Given the description of an element on the screen output the (x, y) to click on. 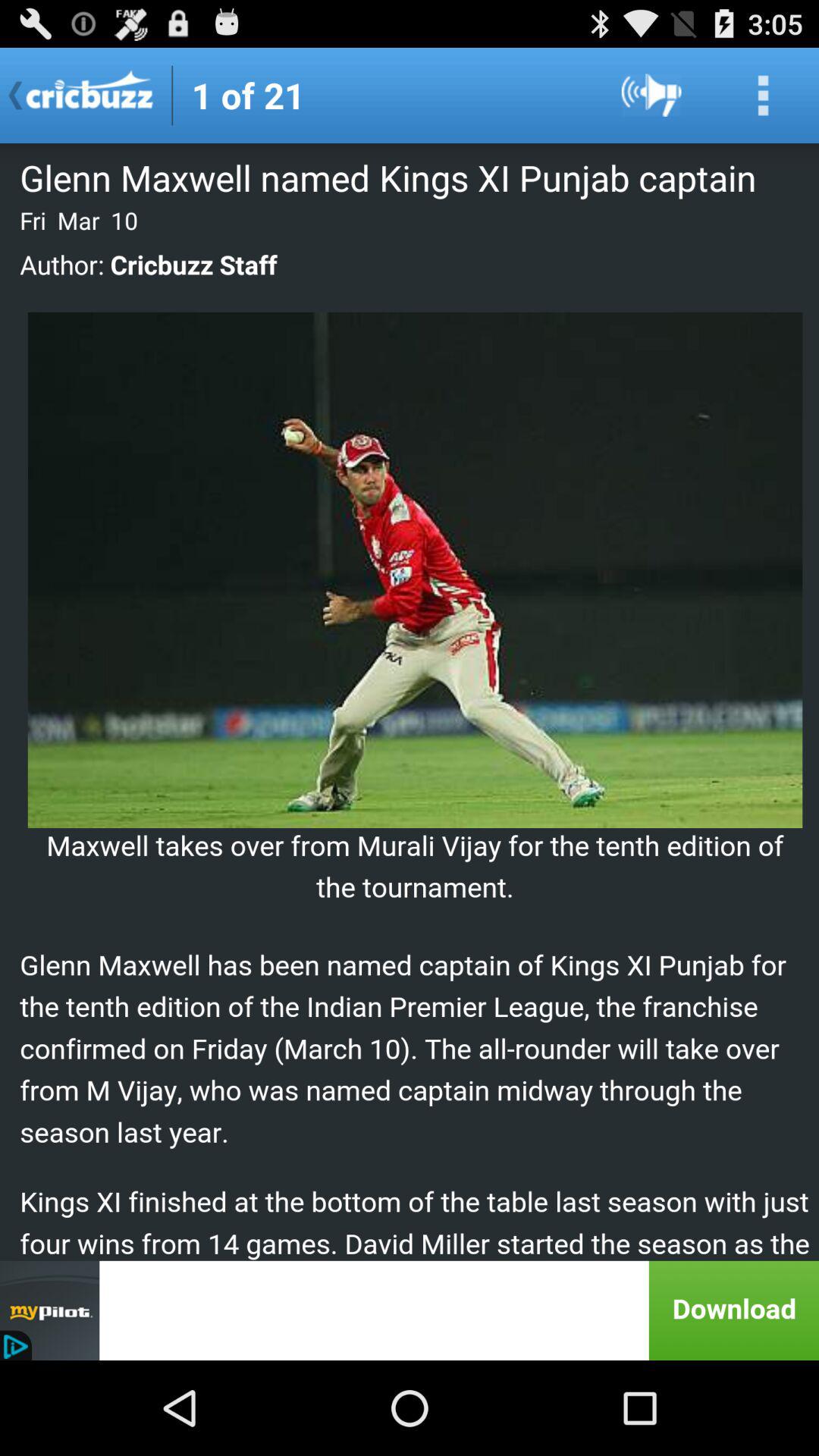
open advertisement (409, 1310)
